Given the description of an element on the screen output the (x, y) to click on. 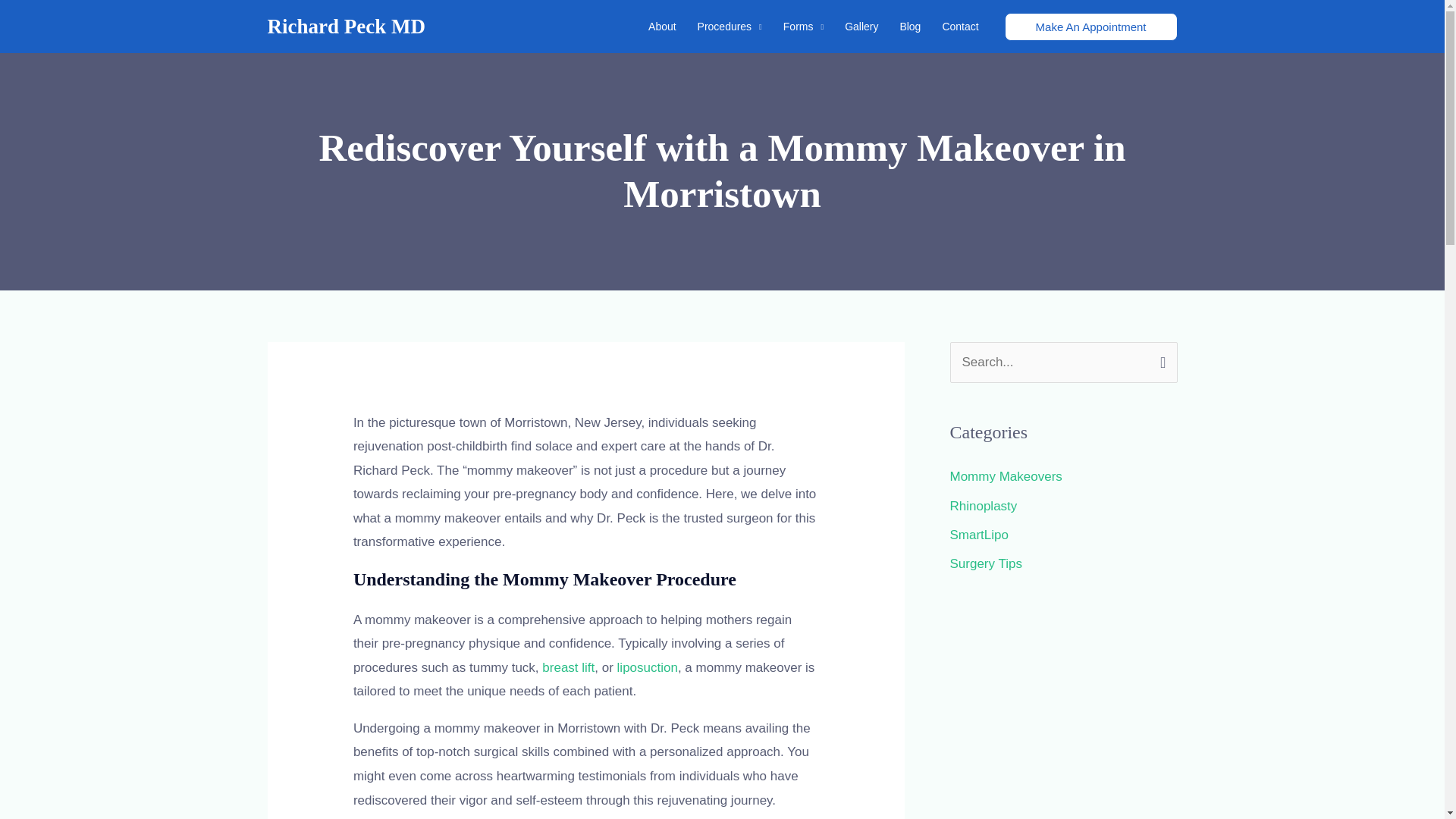
Search (1159, 358)
Gallery (861, 26)
About (662, 26)
Procedures (730, 26)
Search (1159, 358)
Make An Appointment (1090, 26)
Richard Peck MD (345, 26)
Contact (959, 26)
Forms (803, 26)
